Given the description of an element on the screen output the (x, y) to click on. 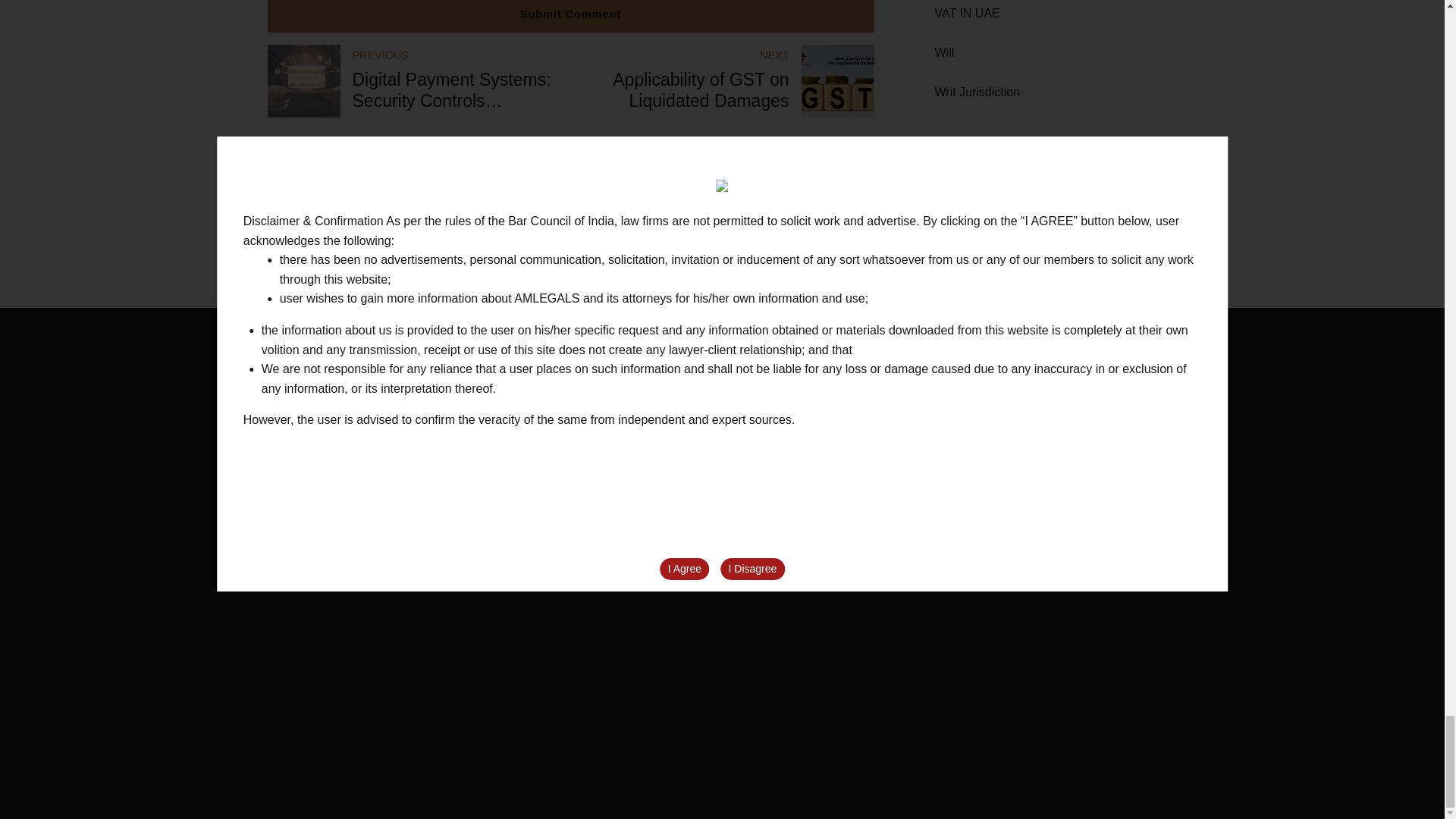
Submit Comment (721, 81)
Submit Comment (569, 15)
